Given the description of an element on the screen output the (x, y) to click on. 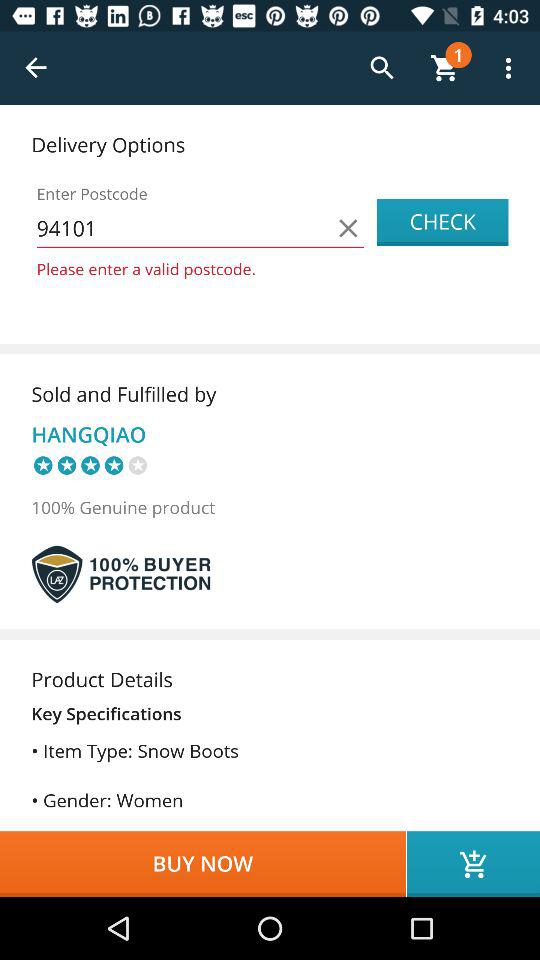
go back (36, 68)
